Given the description of an element on the screen output the (x, y) to click on. 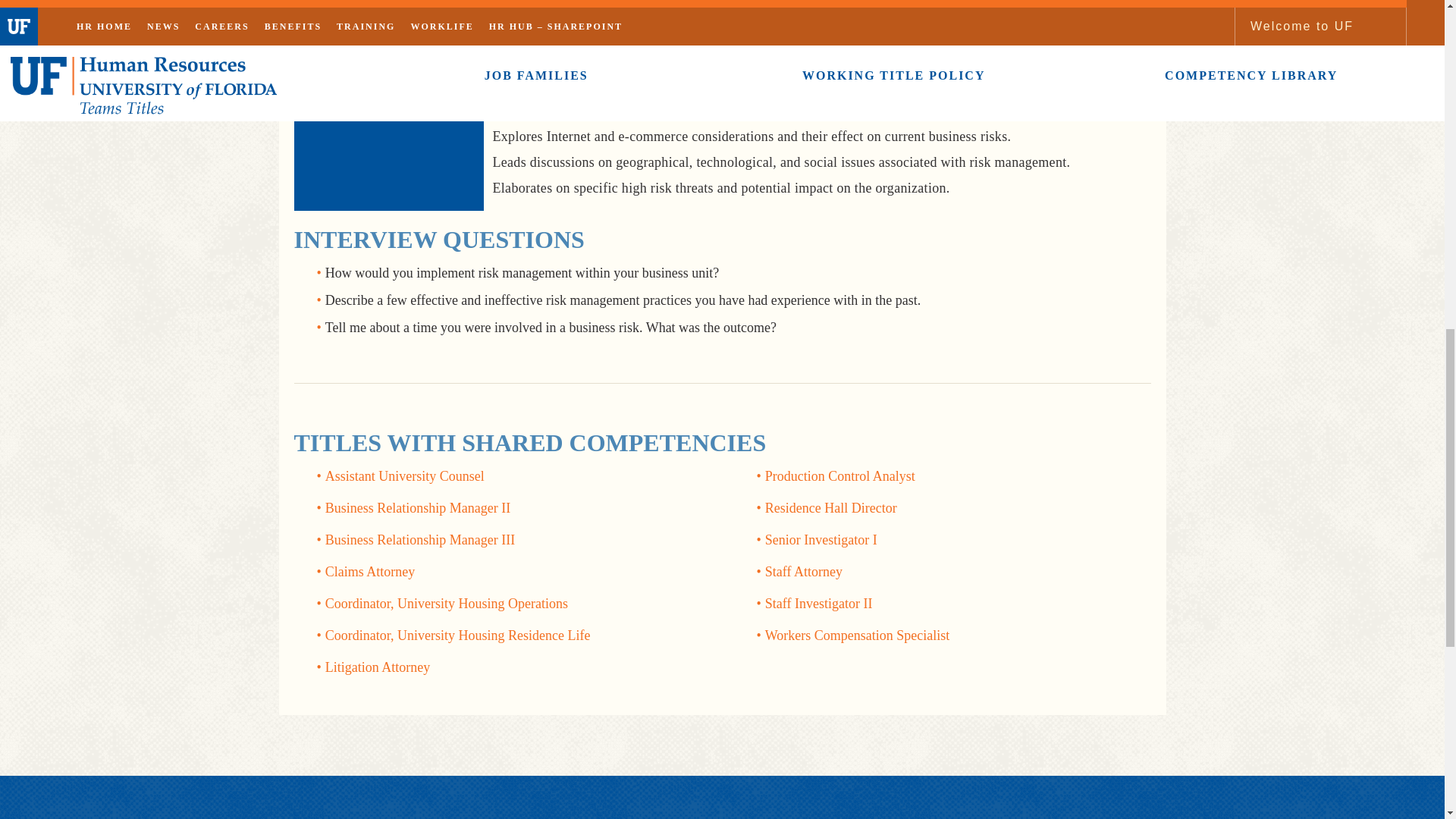
Coordinator, University Housing Residence Life (457, 635)
Production Control Analyst (840, 476)
Assistant University Counsel (404, 476)
Staff Investigator II (818, 603)
Coordinator, University Housing Operations (445, 603)
Litigation Attorney (376, 667)
Residence Hall Director (830, 507)
Claims Attorney (369, 571)
Senior Investigator I (821, 539)
Staff Attorney (804, 571)
Business Relationship Manager III (419, 539)
Workers Compensation Specialist (857, 635)
Business Relationship Manager II (417, 507)
